Given the description of an element on the screen output the (x, y) to click on. 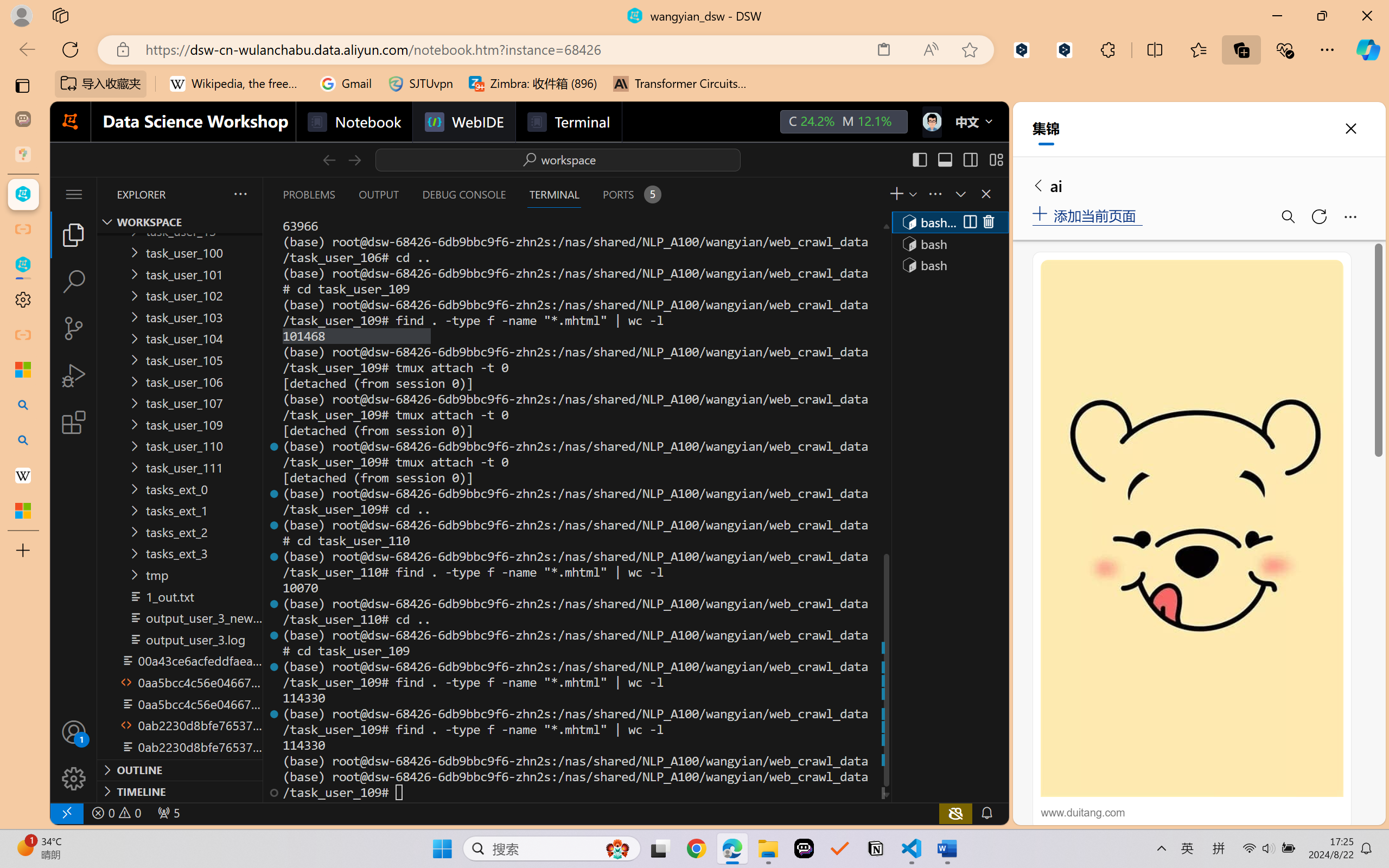
Ports - 5 forwarded ports (630, 194)
Toggle Primary Side Bar (Ctrl+B) (919, 159)
Forwarded Ports: 36301, 47065, 38781, 45817, 50331 (167, 812)
copilot-notconnected, Copilot error (click for details) (955, 812)
Close Panel (986, 193)
wangyian_dsw - DSW (22, 194)
Output (Ctrl+Shift+U) (377, 194)
Source Control (Ctrl+Shift+G) (73, 328)
